Given the description of an element on the screen output the (x, y) to click on. 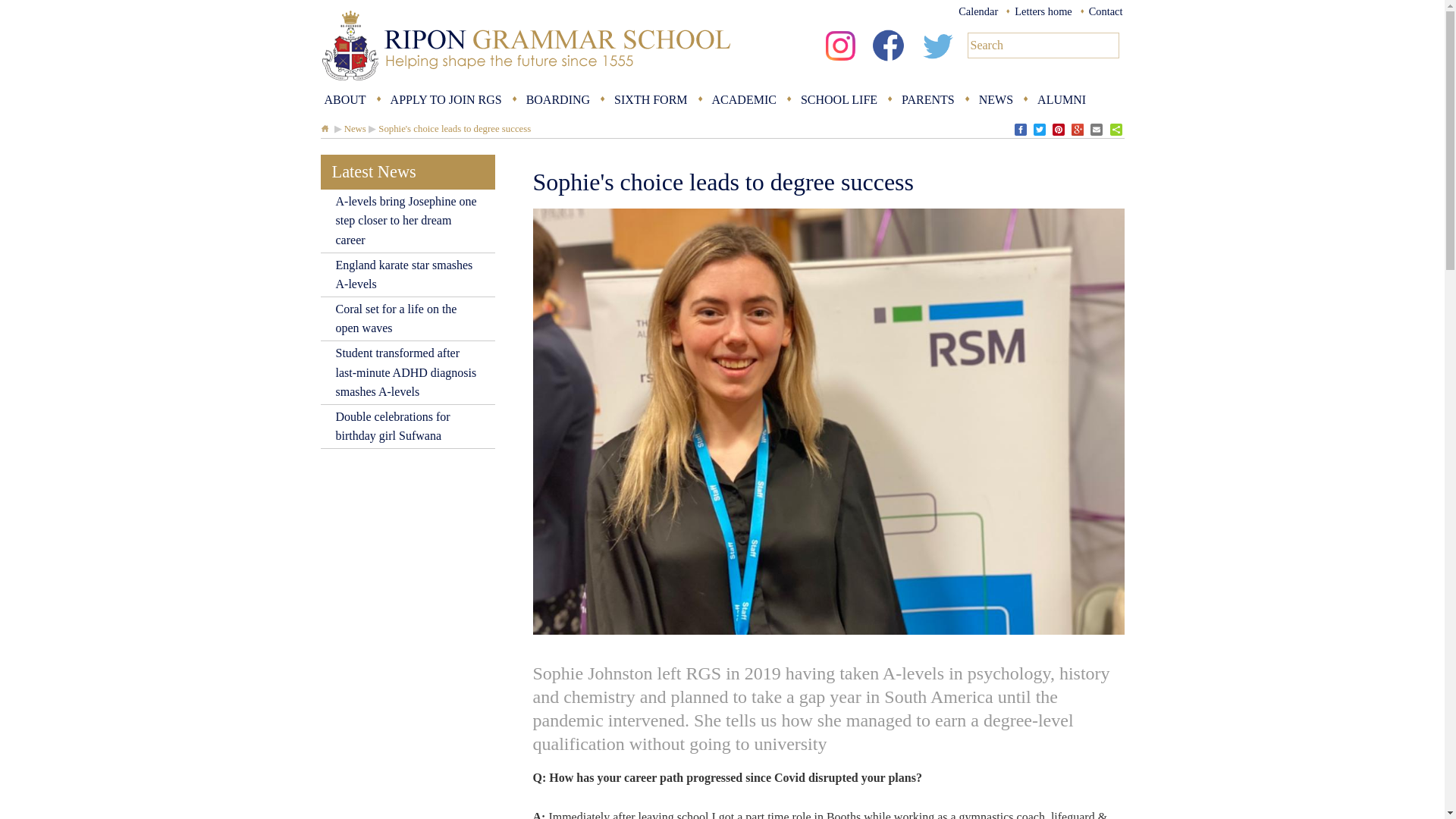
SIXTH FORM (650, 100)
APPLY TO JOIN RGS (446, 100)
Contact (1105, 10)
Twitter (936, 64)
ABOUT (344, 100)
Facebook (888, 64)
BOARDING (558, 100)
Letters home (1042, 10)
Calendar (977, 10)
Instagram (839, 64)
